Given the description of an element on the screen output the (x, y) to click on. 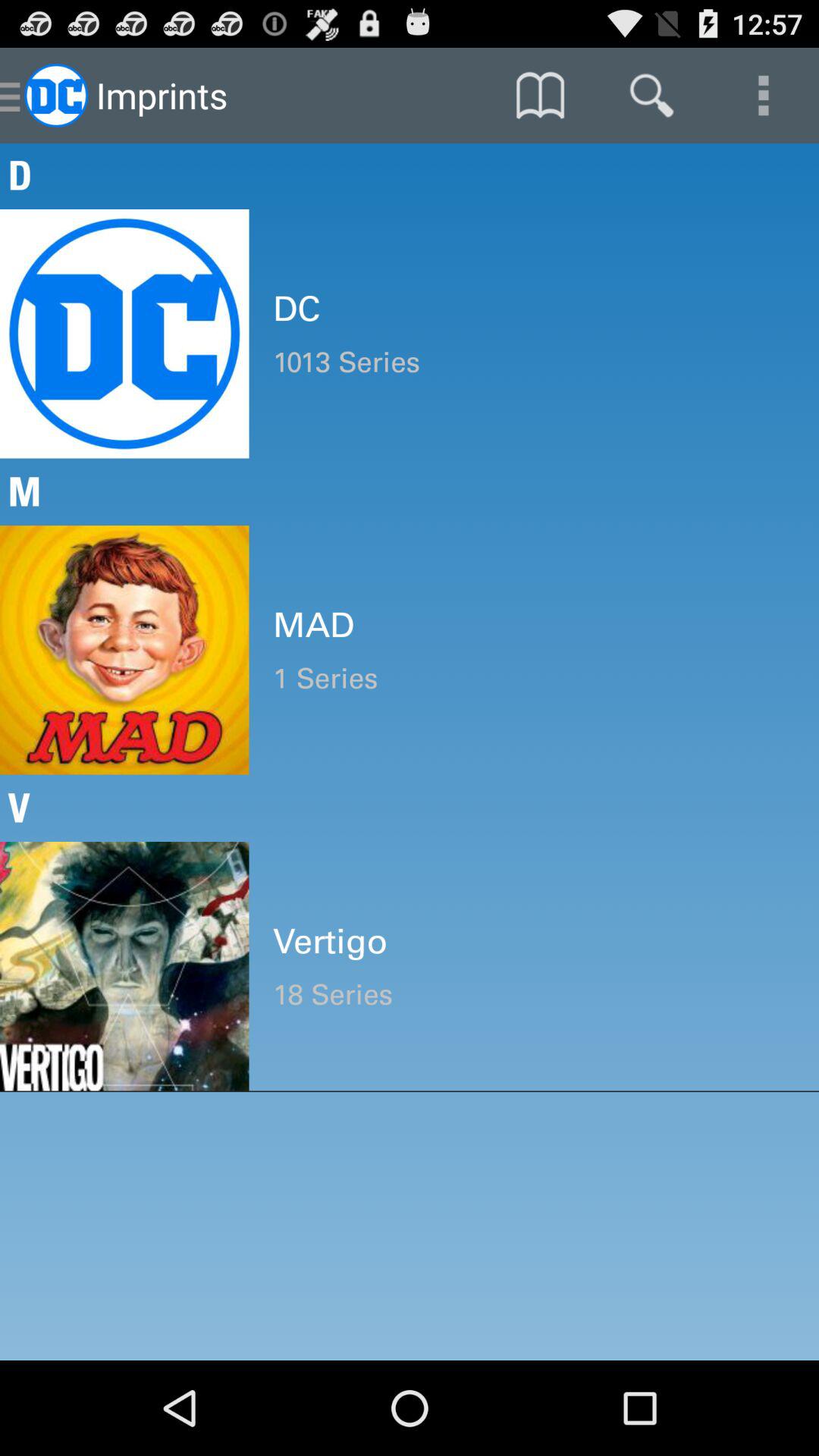
launch item below dc (534, 362)
